Given the description of an element on the screen output the (x, y) to click on. 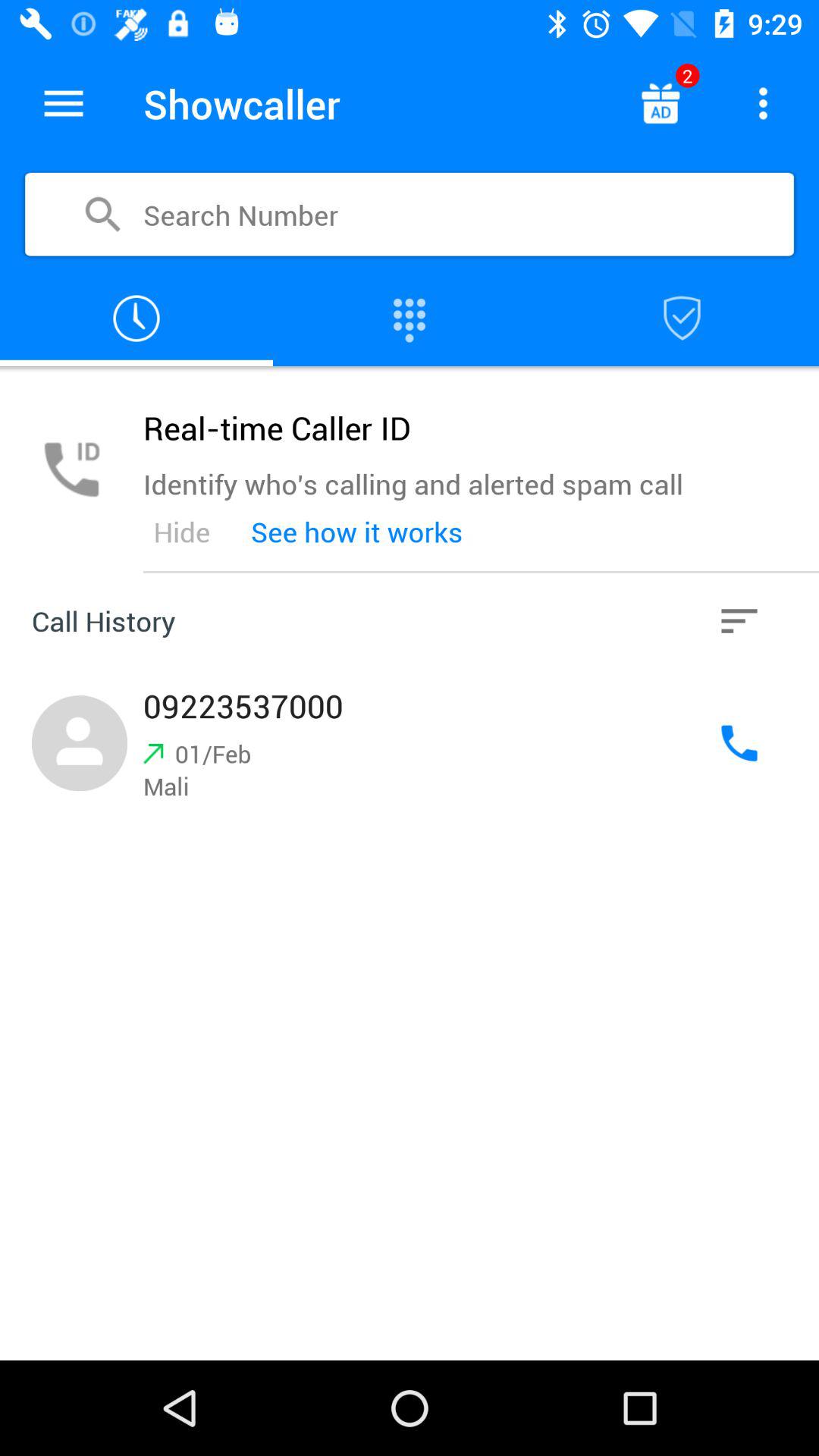
more options (763, 103)
